Given the description of an element on the screen output the (x, y) to click on. 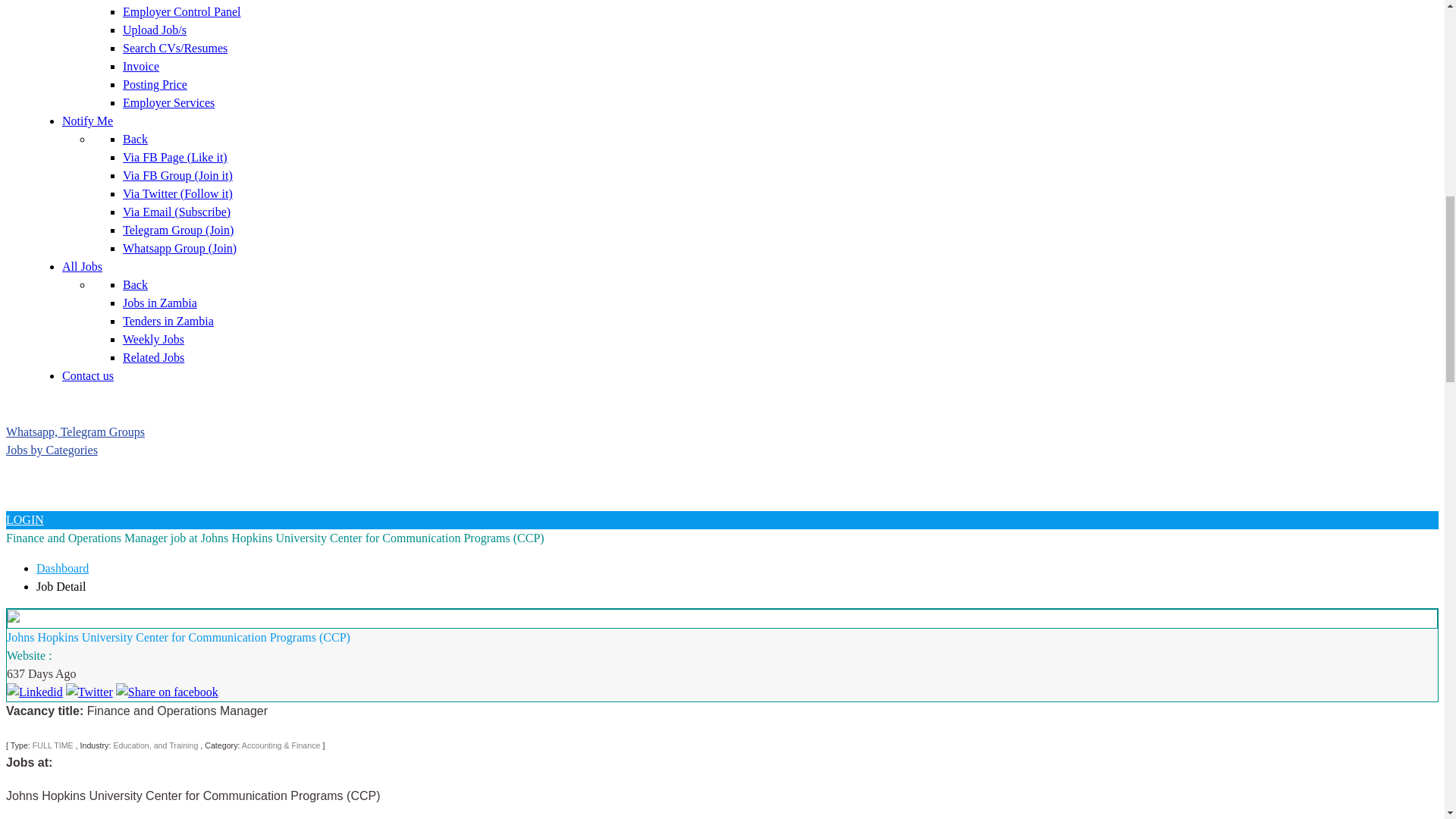
Dashboard (62, 567)
Share to Twitter (89, 691)
Posting Price (154, 83)
Notify Me (87, 120)
Share to Linkedin (34, 691)
Back (135, 138)
Employer Control Panel (181, 11)
Employer Services (168, 102)
Invoice (140, 65)
